Given the description of an element on the screen output the (x, y) to click on. 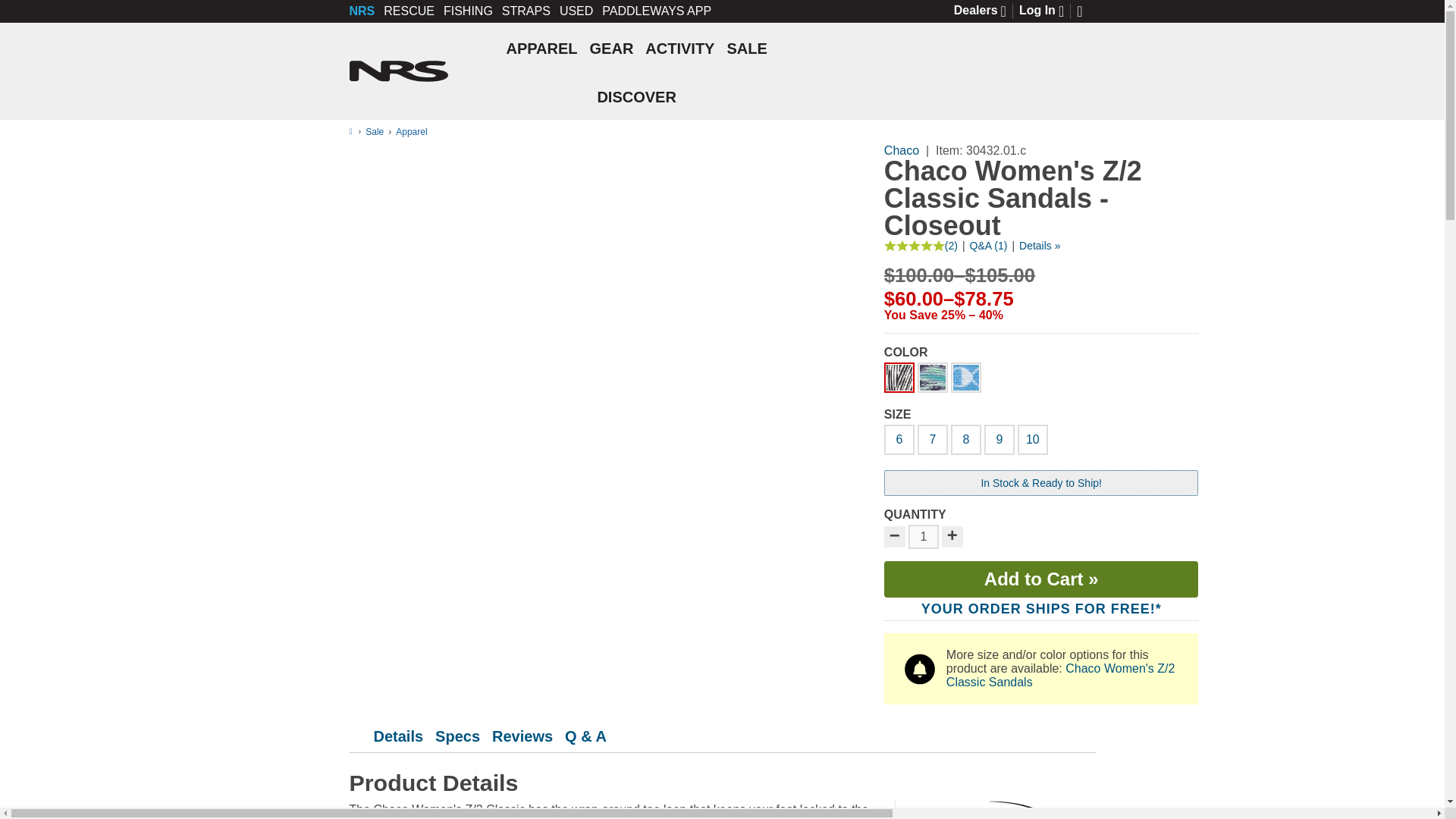
PADDLEWAYS APP (656, 10)
Chaco (900, 150)
USED (575, 10)
FISHING (468, 10)
STRAPS (526, 10)
Details (397, 739)
SALE (746, 46)
APPAREL (541, 46)
Log In (1048, 11)
NRS (361, 10)
